Given the description of an element on the screen output the (x, y) to click on. 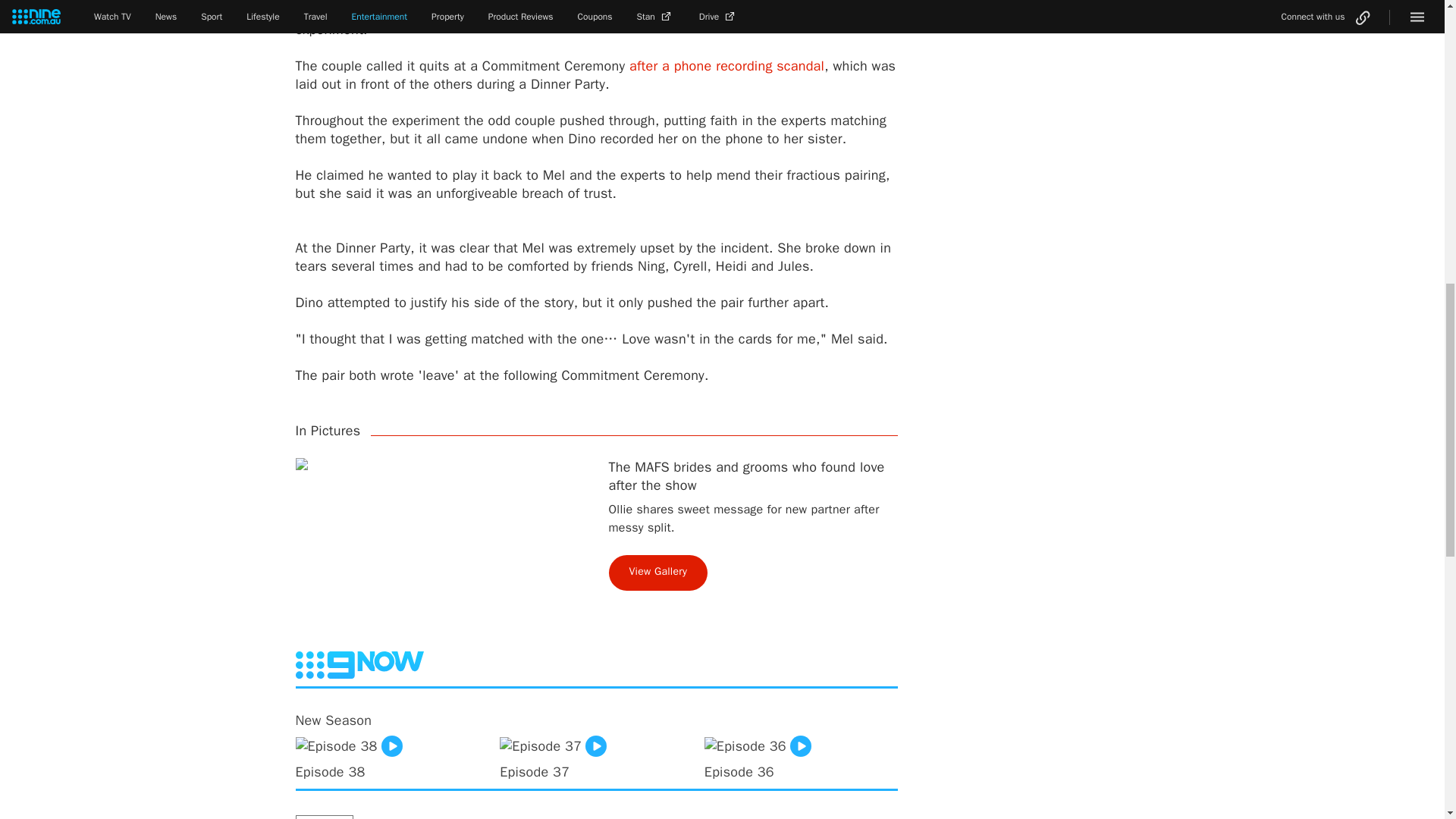
Dino Hira (324, 816)
after a phone recording scandal (726, 65)
Episode 37 (596, 755)
Episode 38 (392, 755)
Episode 36 (801, 755)
View Gallery (657, 572)
after a phone recording scandal (726, 65)
